Given the description of an element on the screen output the (x, y) to click on. 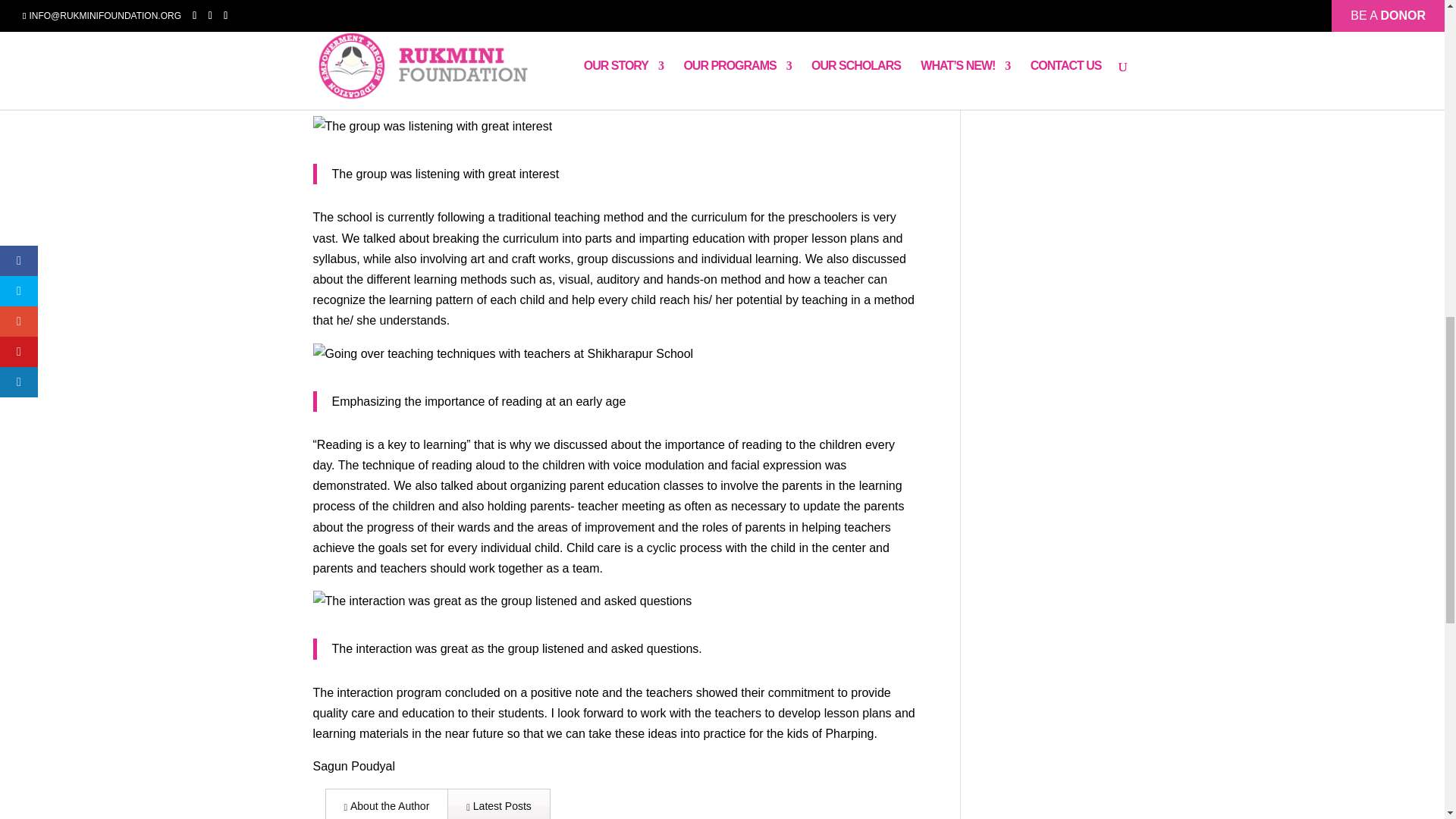
Latest Posts (498, 803)
About the Author (386, 803)
